Given the description of an element on the screen output the (x, y) to click on. 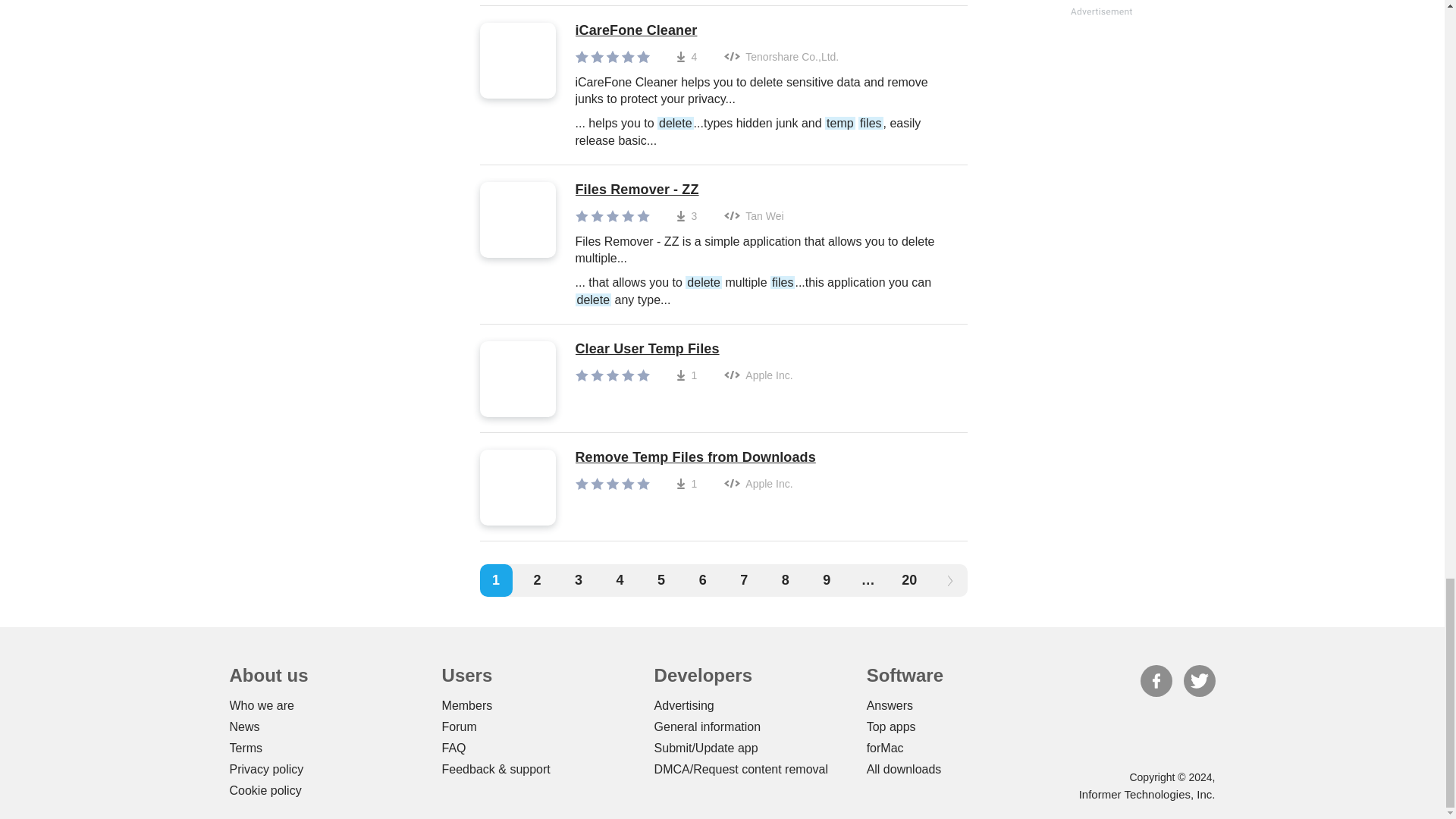
Remove Temp Files from Downloads (695, 457)
iCareFone Cleaner (763, 30)
Files Remover - ZZ (763, 190)
Clear User Temp Files (683, 349)
